Given the description of an element on the screen output the (x, y) to click on. 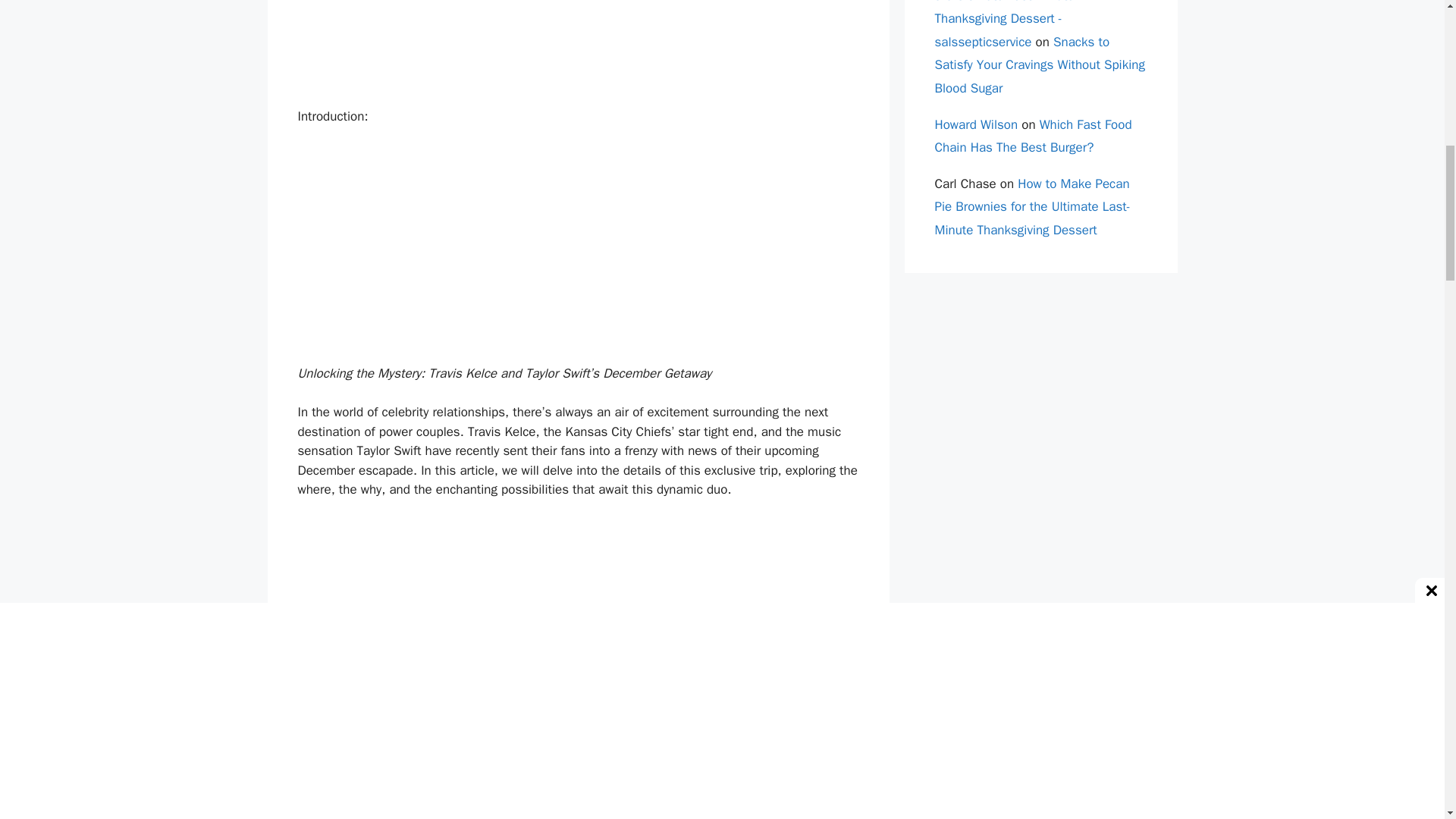
Snacks to Satisfy Your Cravings Without Spiking Blood Sugar (1039, 65)
Advertisement (578, 251)
Advertisement (578, 624)
Advertisement (578, 50)
Which Fast Food Chain Has The Best Burger? (1032, 136)
Howard Wilson (975, 124)
